Given the description of an element on the screen output the (x, y) to click on. 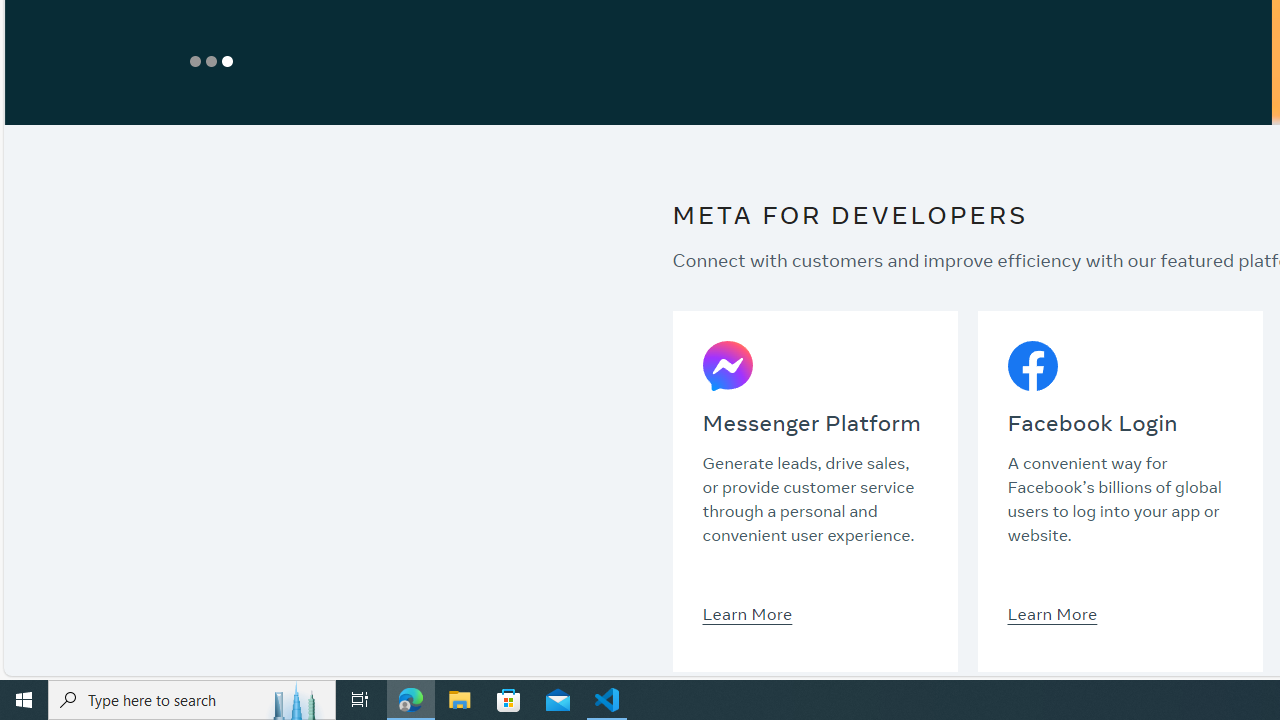
Learn More (1052, 613)
Show Slide 1 (194, 61)
Show Slide 2 (210, 61)
Show Slide 3 (226, 61)
